Given the description of an element on the screen output the (x, y) to click on. 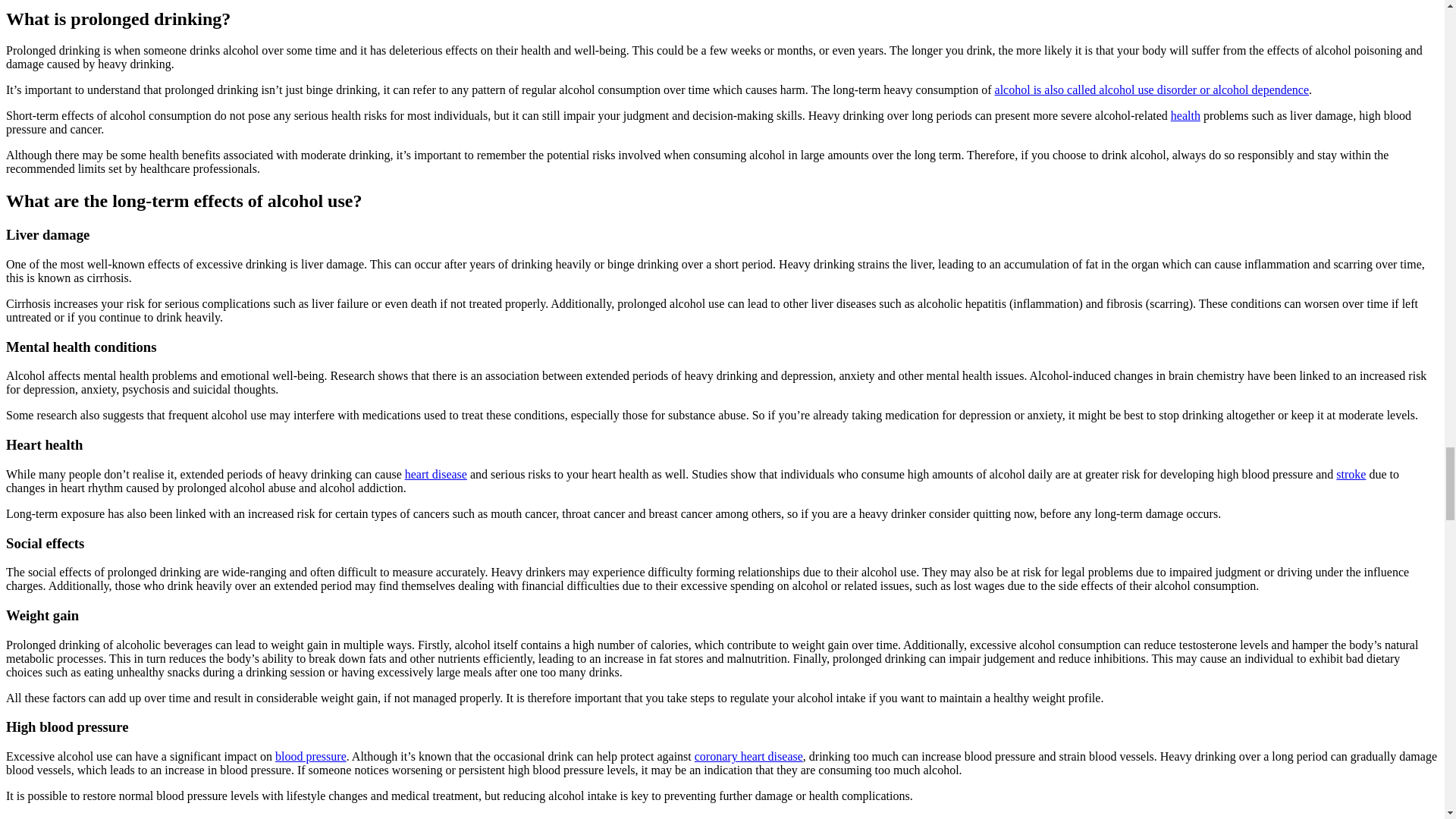
coronary heart disease (748, 756)
stroke (1350, 473)
blood pressure (310, 756)
health (1184, 115)
heart disease (435, 473)
